Given the description of an element on the screen output the (x, y) to click on. 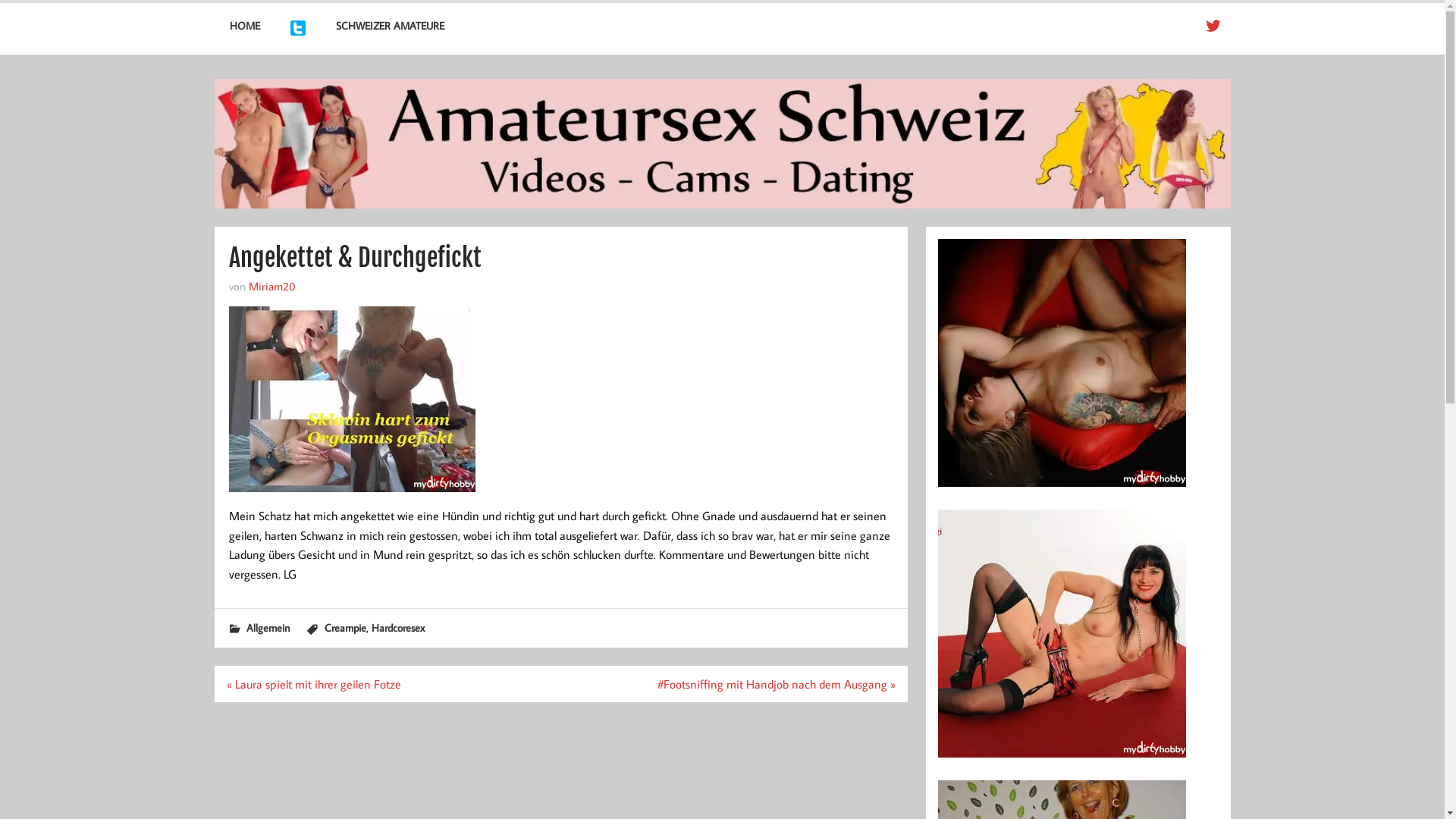
Creampie Element type: text (345, 627)
Allgemein Element type: text (266, 627)
SCHWEIZER AMATEURE Element type: text (389, 25)
Nutte Angie (47) Frauenfeld Element type: text (1061, 761)
HOME Element type: text (243, 25)
Hardcoresex Element type: text (397, 627)
Miriam20 Element type: text (271, 285)
